Given the description of an element on the screen output the (x, y) to click on. 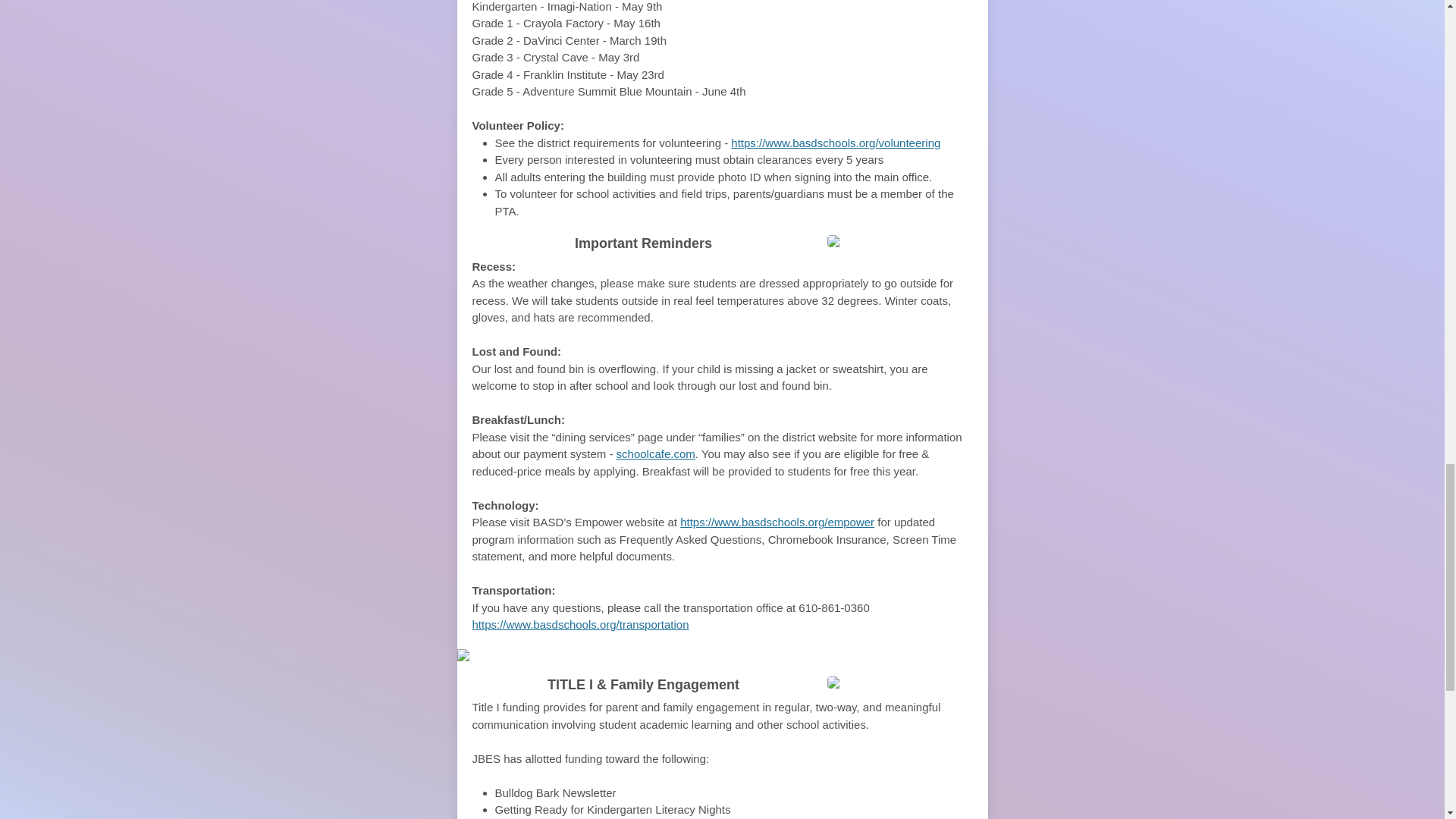
schoolcafe.com (655, 453)
